Given the description of an element on the screen output the (x, y) to click on. 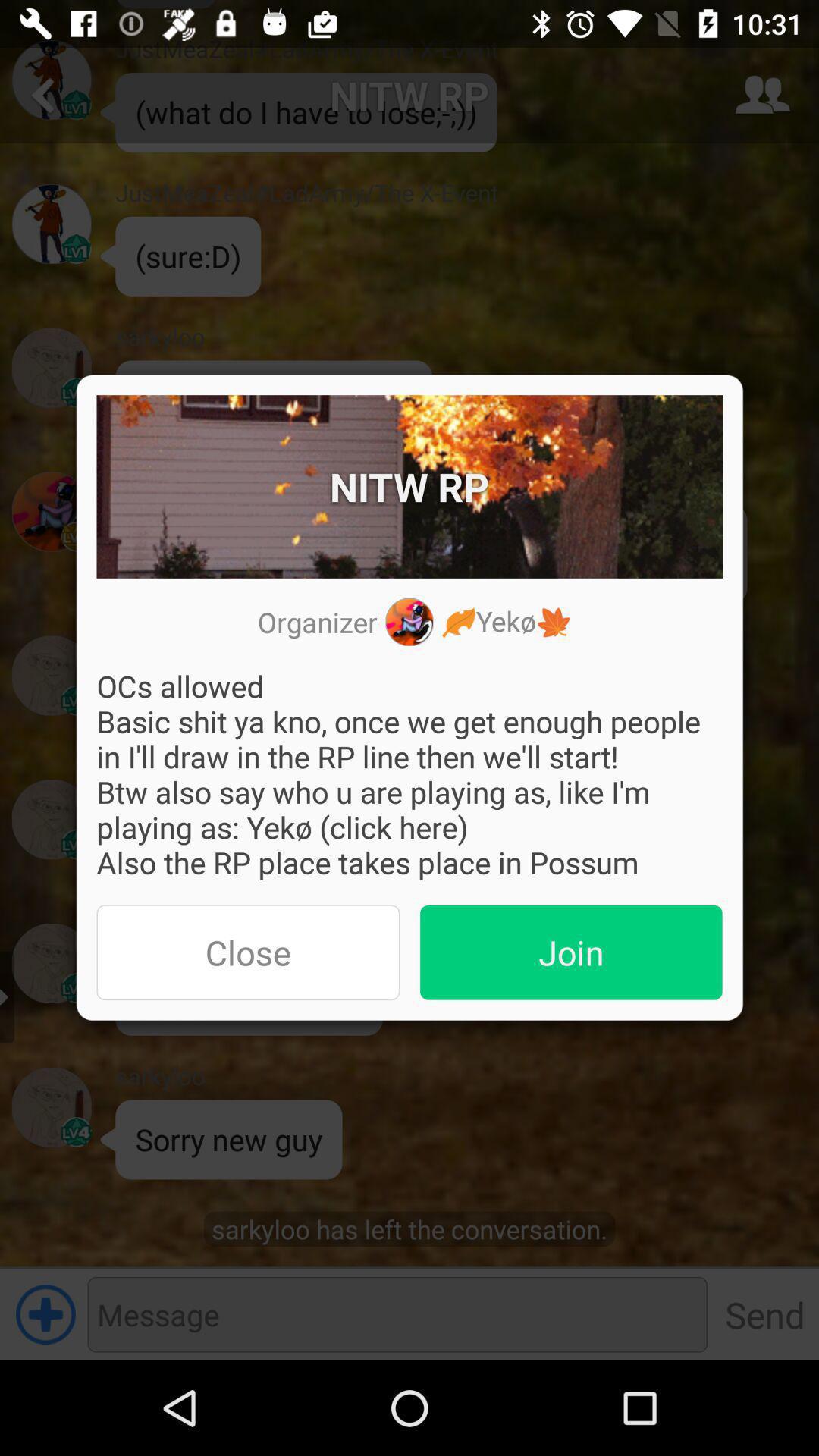
turn on icon on the right (570, 952)
